Given the description of an element on the screen output the (x, y) to click on. 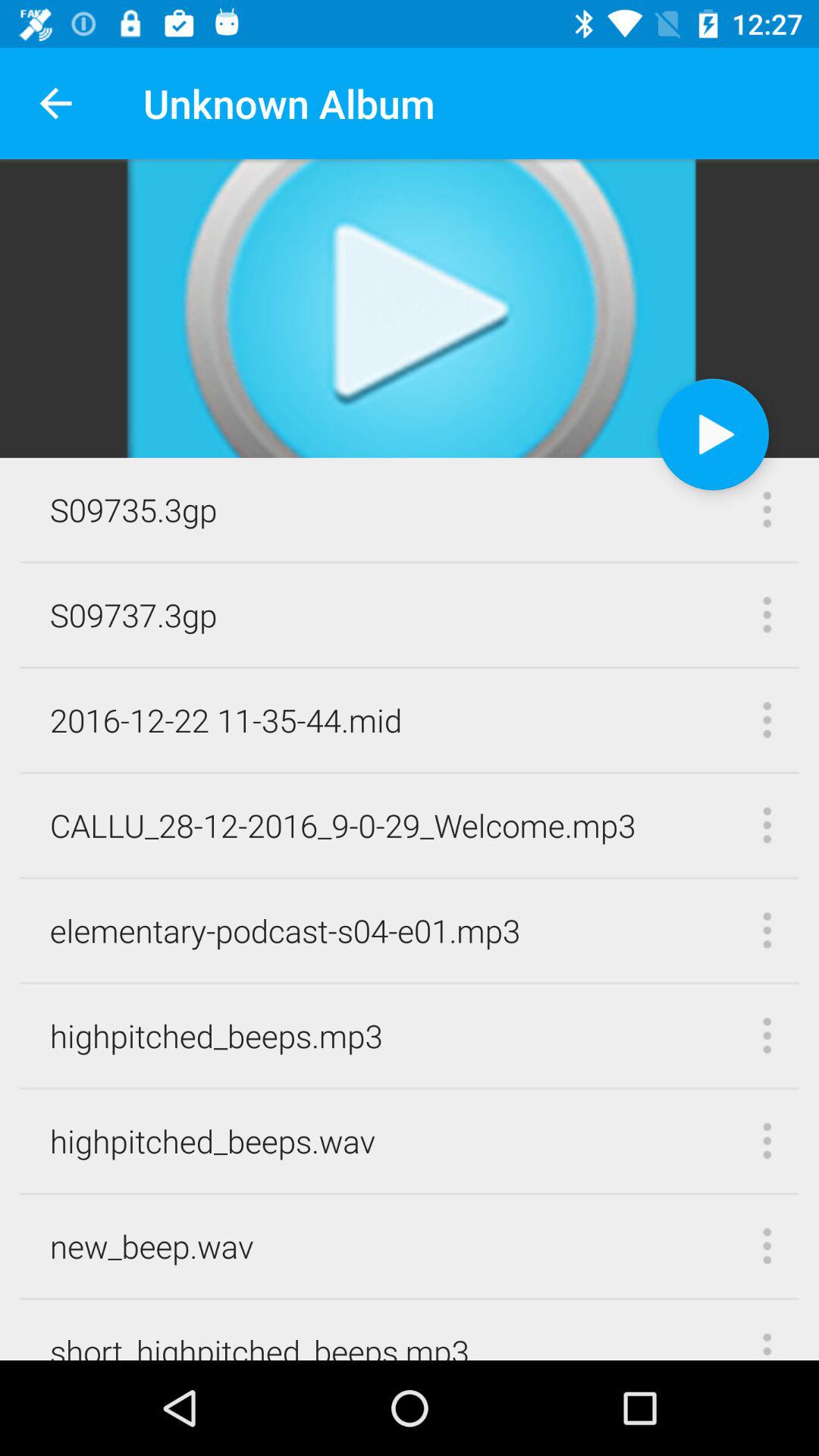
tap elementary podcast s04 (285, 930)
